Given the description of an element on the screen output the (x, y) to click on. 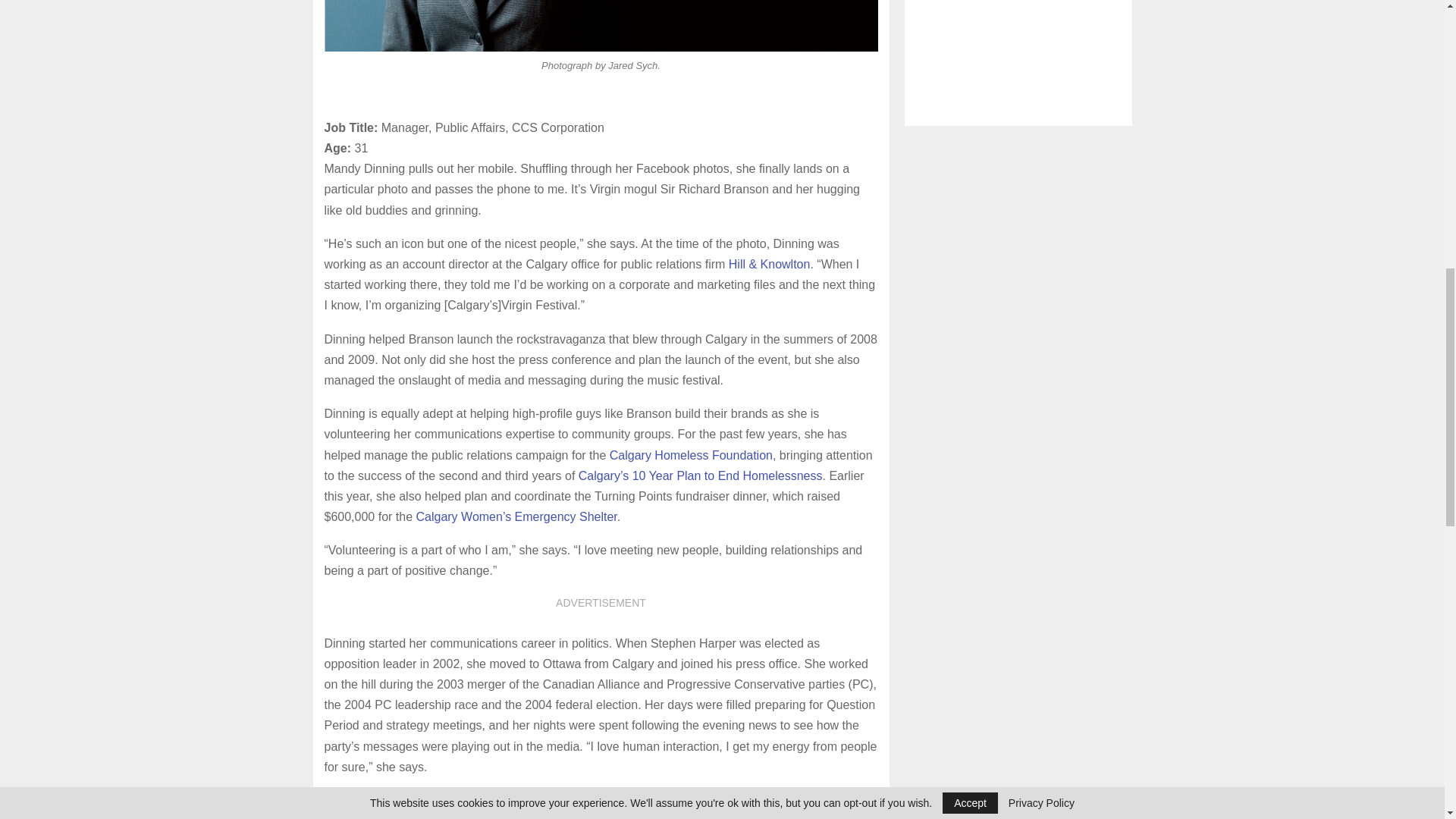
3rd party ad content (1017, 63)
